Given the description of an element on the screen output the (x, y) to click on. 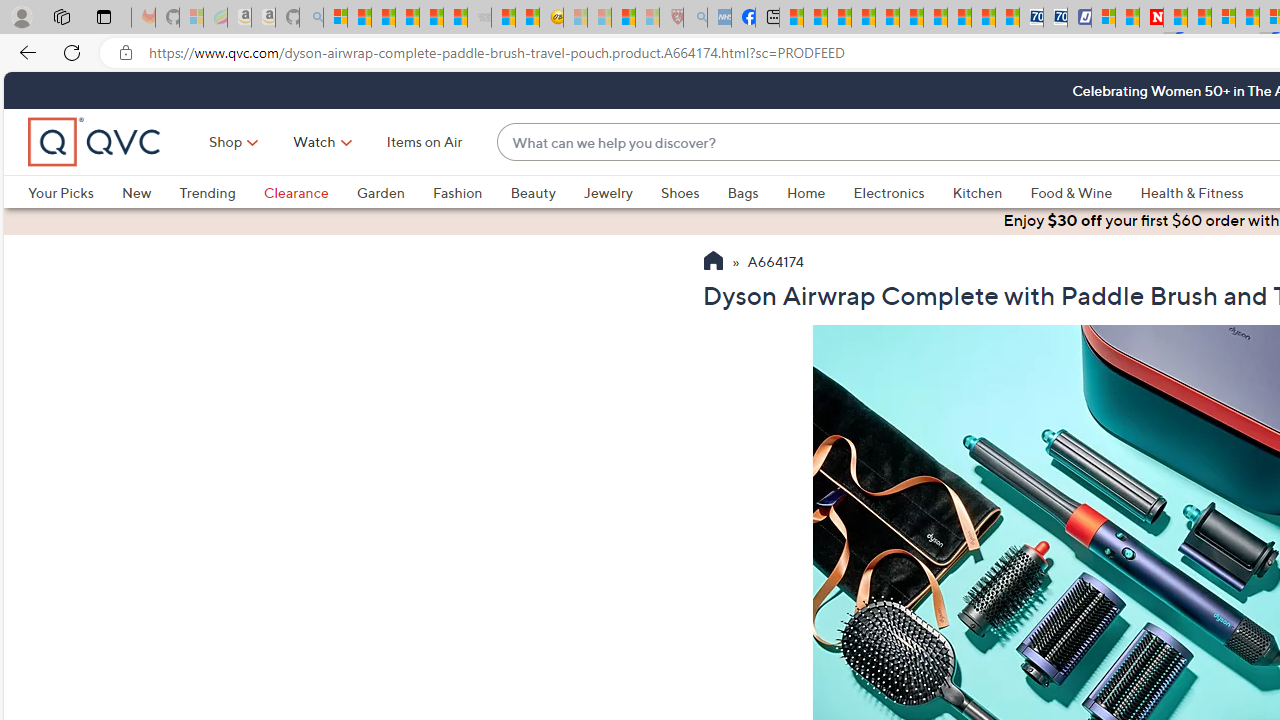
Cheap Hotels - Save70.com (1055, 17)
Electronics (888, 192)
QVC home (95, 141)
Jewelry (621, 192)
Return to QVC Homepage (712, 263)
Garden (393, 192)
Fashion (471, 192)
14 Common Myths Debunked By Scientific Facts (1198, 17)
Garden (379, 192)
